Given the description of an element on the screen output the (x, y) to click on. 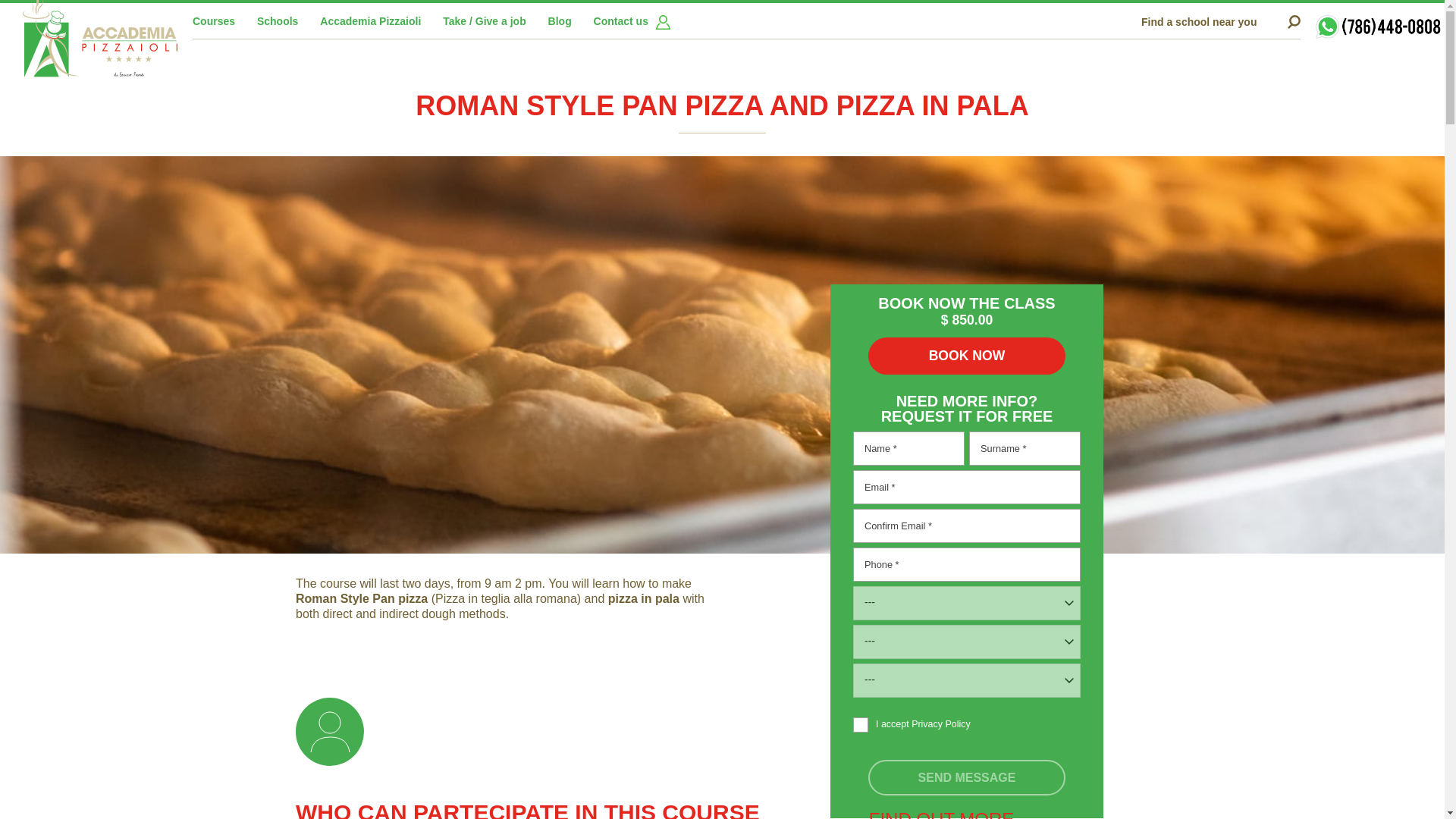
Numero verde  (1378, 26)
Send message (966, 777)
Blog (560, 21)
Find a school near you (1220, 21)
Contact us (620, 21)
Courses (213, 21)
Send message (966, 777)
Schools (277, 21)
Accademia Pizzaioli (100, 45)
BOOK NOW (966, 355)
